Given the description of an element on the screen output the (x, y) to click on. 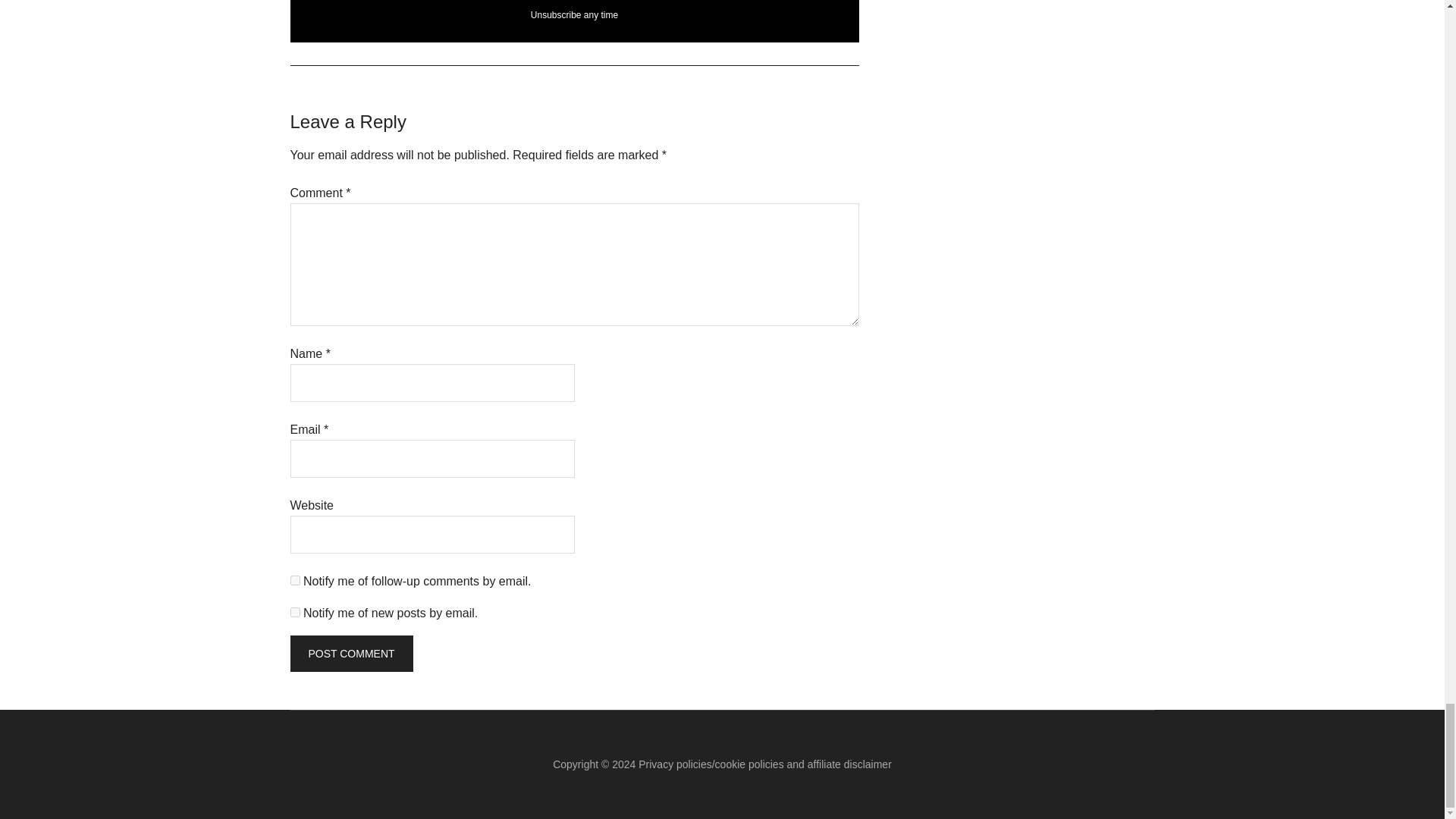
Post Comment (350, 653)
Post Comment (350, 653)
subscribe (294, 580)
subscribe (294, 612)
